Given the description of an element on the screen output the (x, y) to click on. 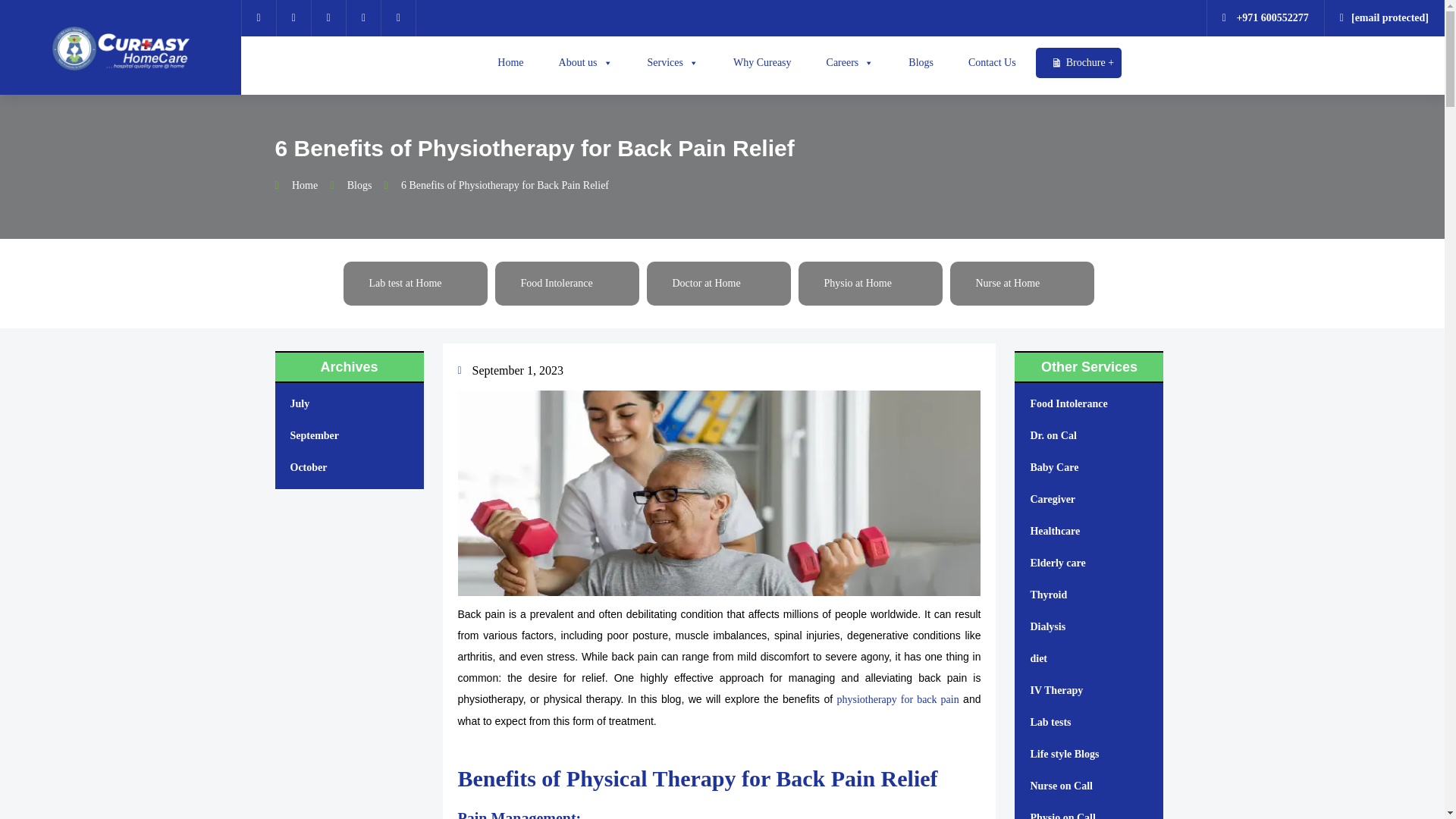
Home (506, 62)
Services (668, 62)
About us (581, 62)
